Given the description of an element on the screen output the (x, y) to click on. 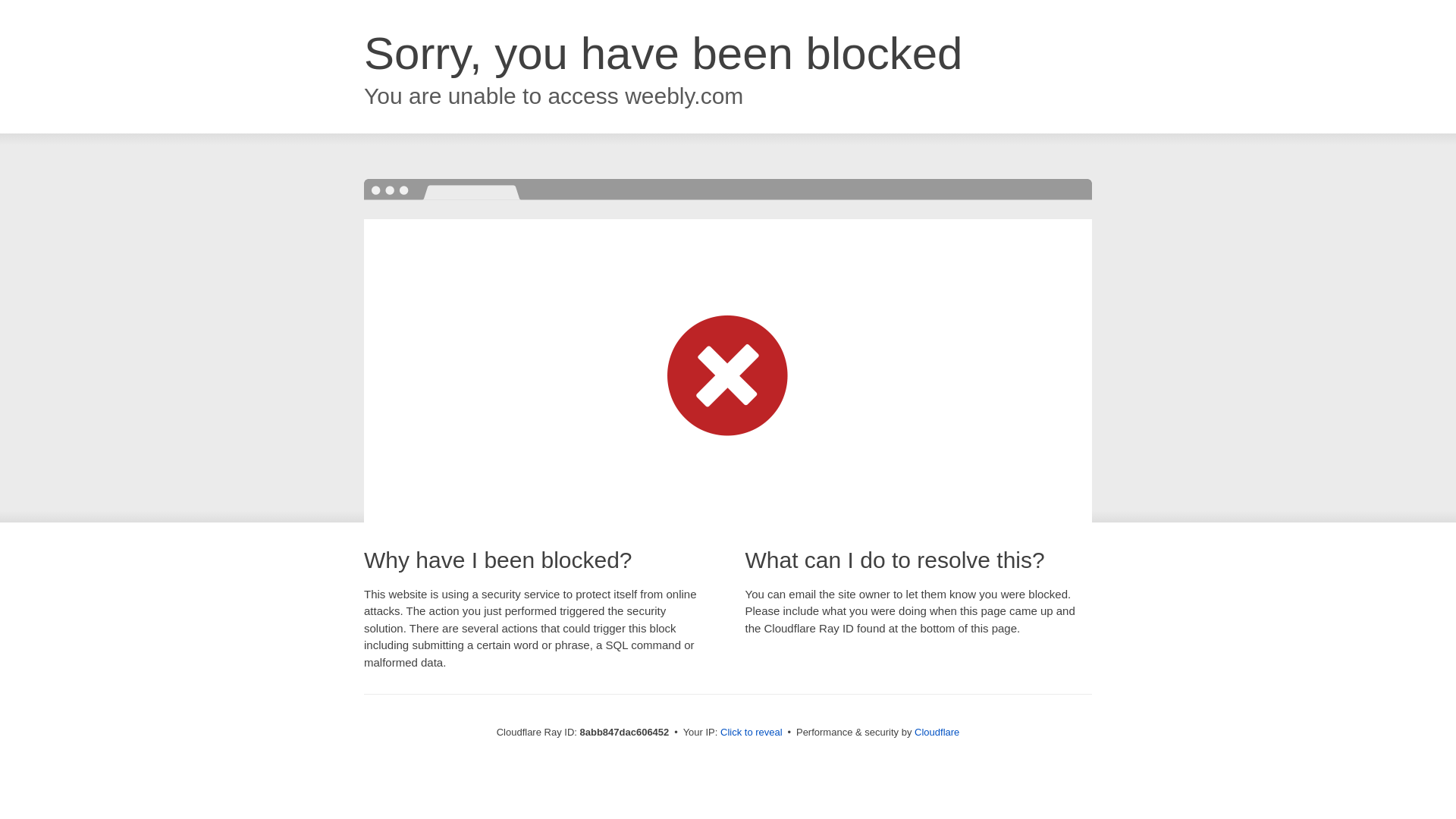
Click to reveal (751, 732)
Cloudflare (936, 731)
